Given the description of an element on the screen output the (x, y) to click on. 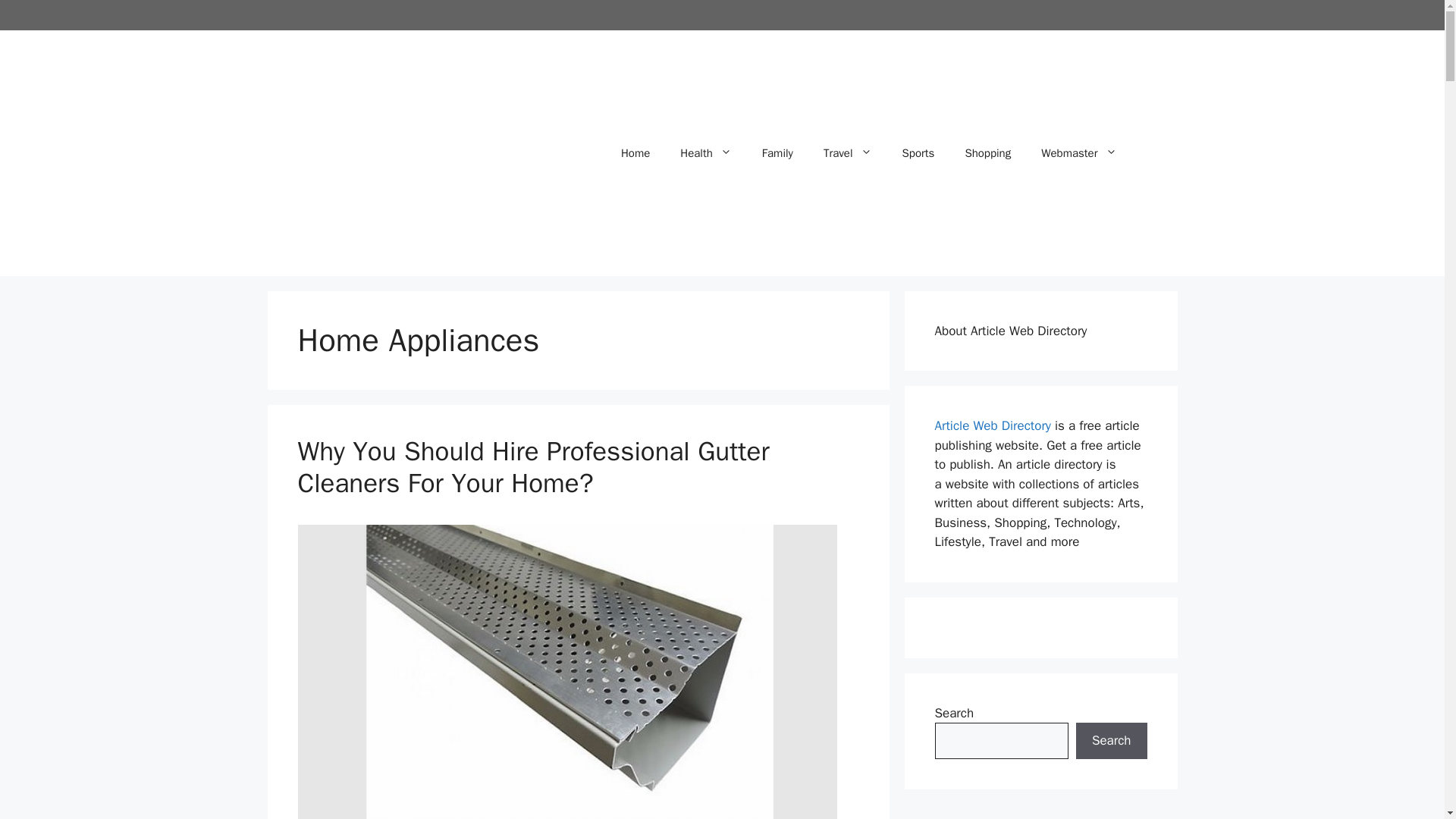
Home (635, 153)
Sports (918, 153)
Webmaster (1078, 153)
Health (705, 153)
Travel (847, 153)
Family (777, 153)
Shopping (987, 153)
